Given the description of an element on the screen output the (x, y) to click on. 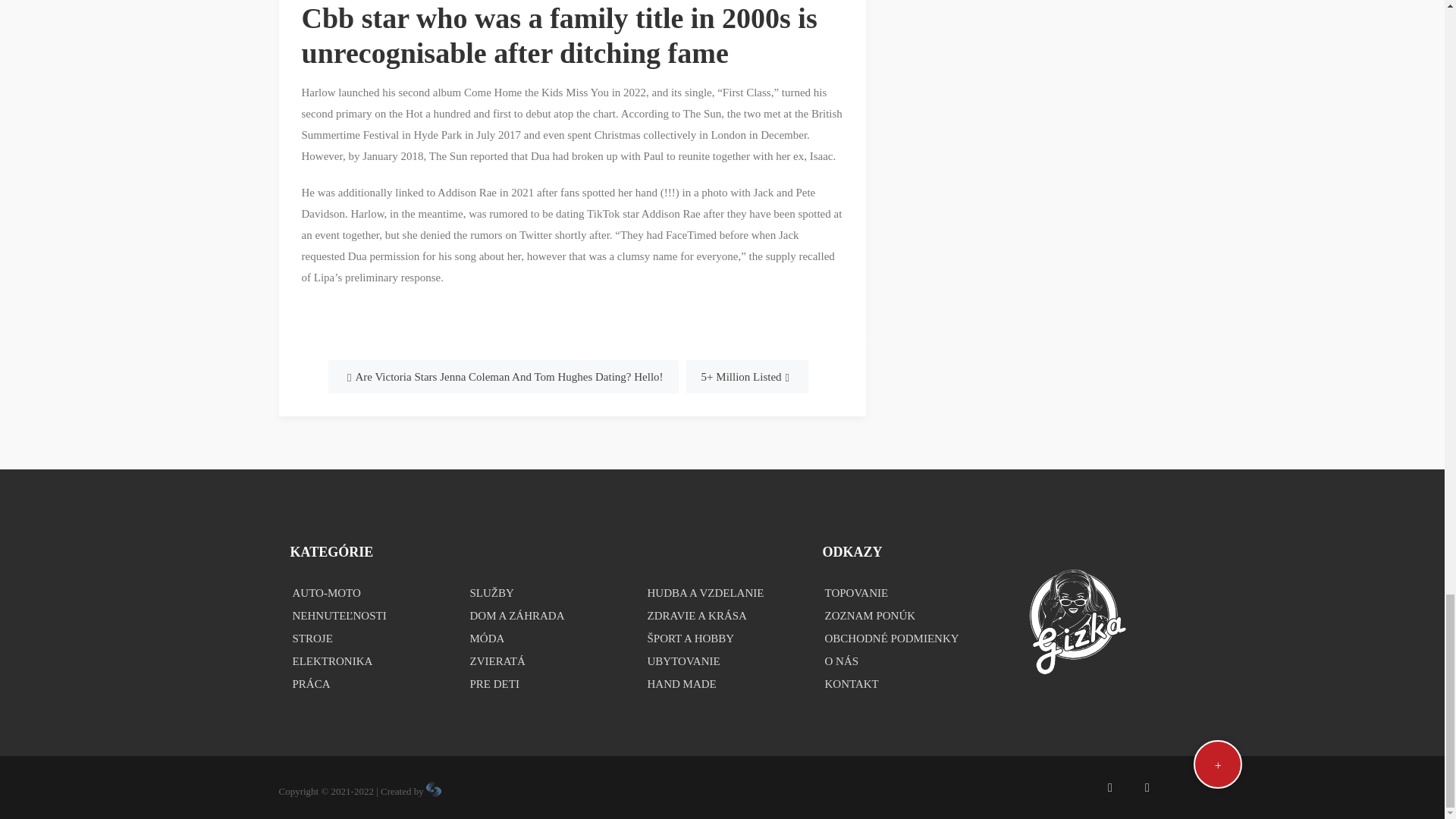
AUTO-MOTO (366, 592)
STROJE (366, 638)
UBYTOVANIE (722, 661)
ELEKTRONIKA (366, 661)
HUDBA A VZDELANIE (722, 592)
PRE DETI (544, 683)
HAND MADE (722, 683)
TOPOVANIE (899, 592)
KONTAKT (899, 683)
